Given the description of an element on the screen output the (x, y) to click on. 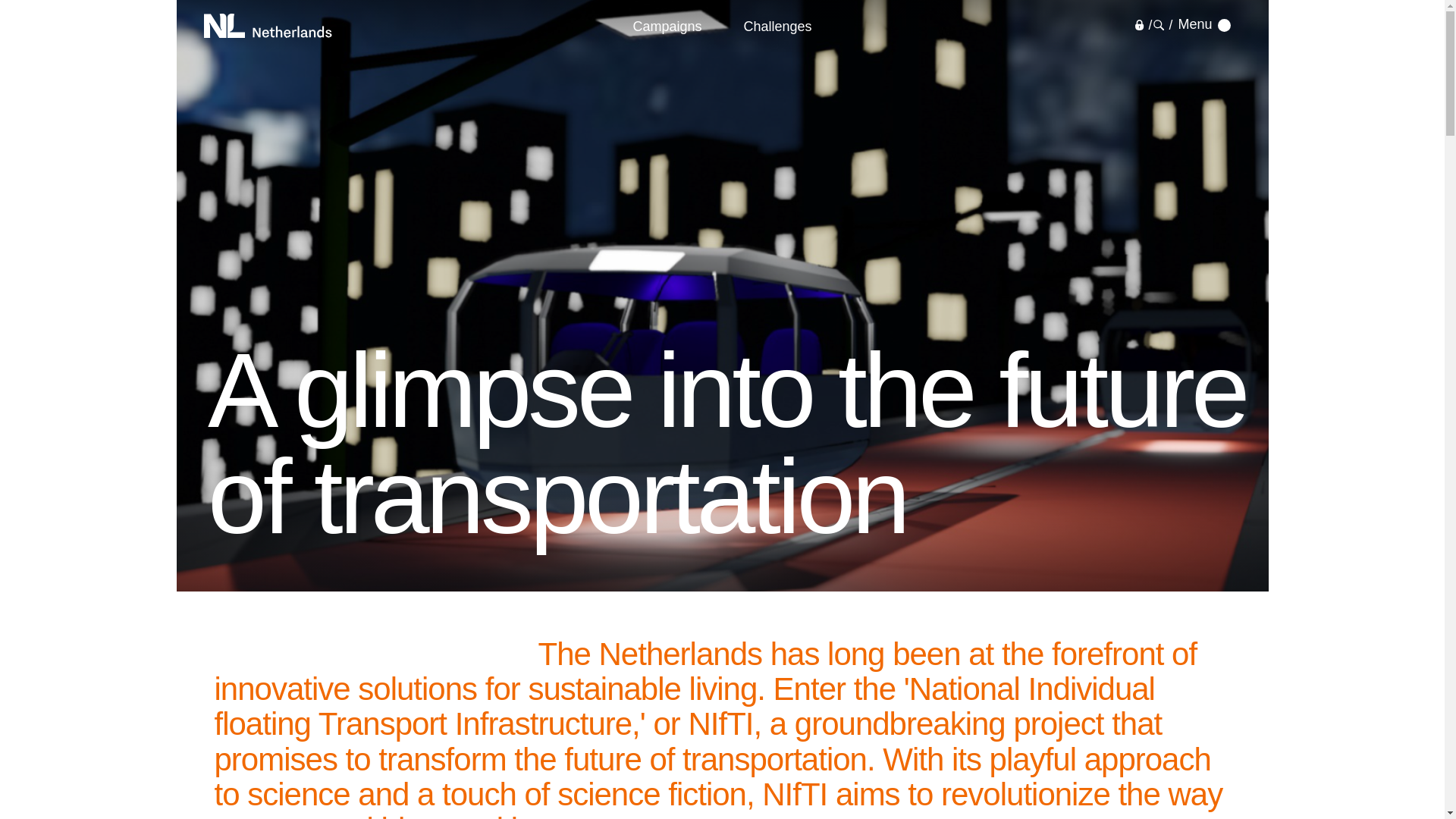
Campaigns (666, 26)
Challenges (776, 26)
Home (267, 25)
